Given the description of an element on the screen output the (x, y) to click on. 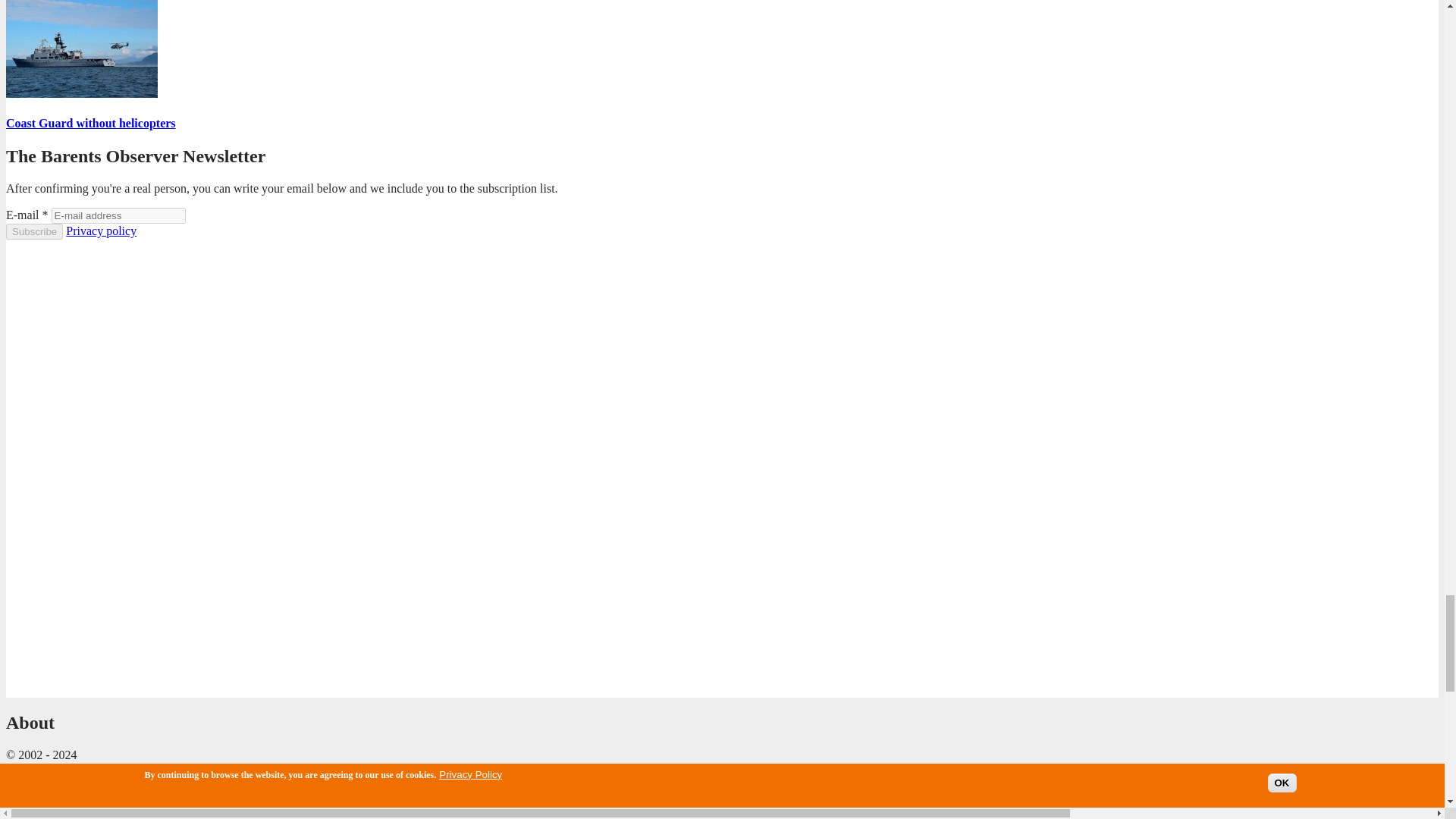
Subscribe (33, 231)
